Given the description of an element on the screen output the (x, y) to click on. 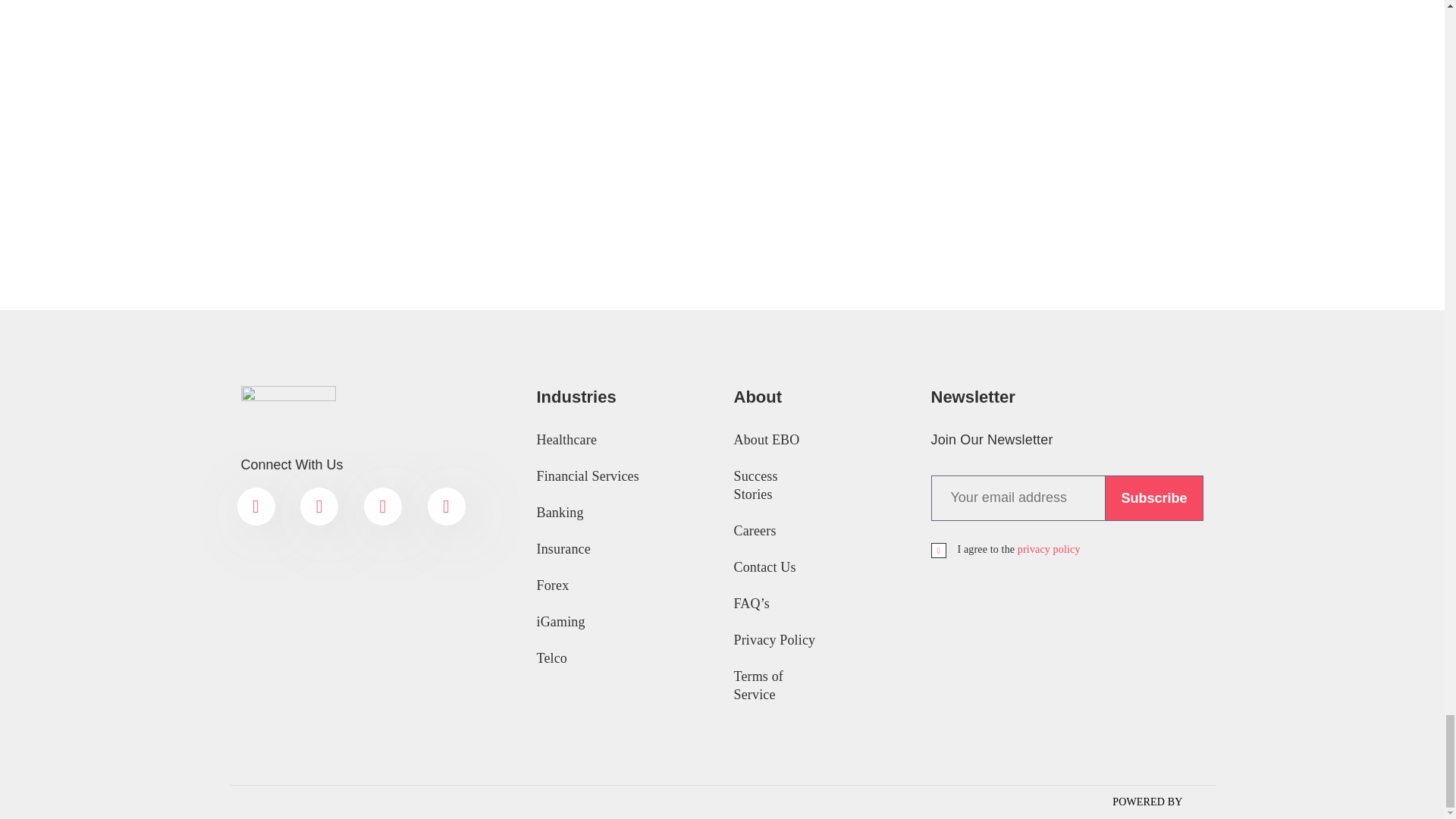
Healthcare (624, 439)
Subscribe (1153, 497)
Financial Services (624, 475)
